Given the description of an element on the screen output the (x, y) to click on. 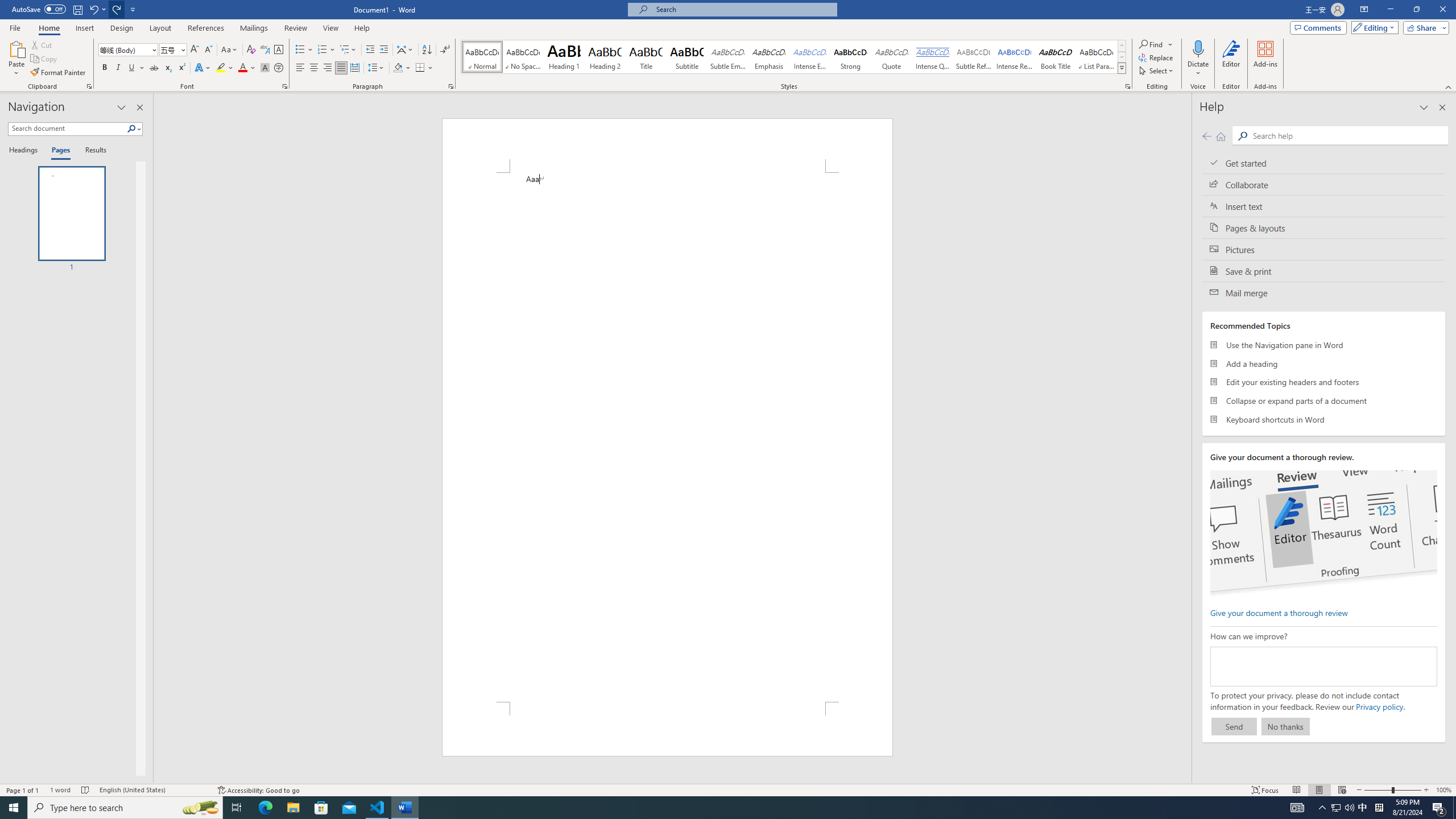
Read Mode (1296, 790)
Styles... (1127, 85)
Intense Quote (932, 56)
Send (1233, 726)
Get started (1323, 162)
Grow Font (193, 49)
Subscript (167, 67)
Use the Navigation pane in Word (1323, 344)
Give your document a thorough review (1278, 611)
Search (131, 128)
Restore Down (1416, 9)
Layout (160, 28)
Multilevel List (347, 49)
AutomationID: QuickStylesGallery (794, 56)
